Given the description of an element on the screen output the (x, y) to click on. 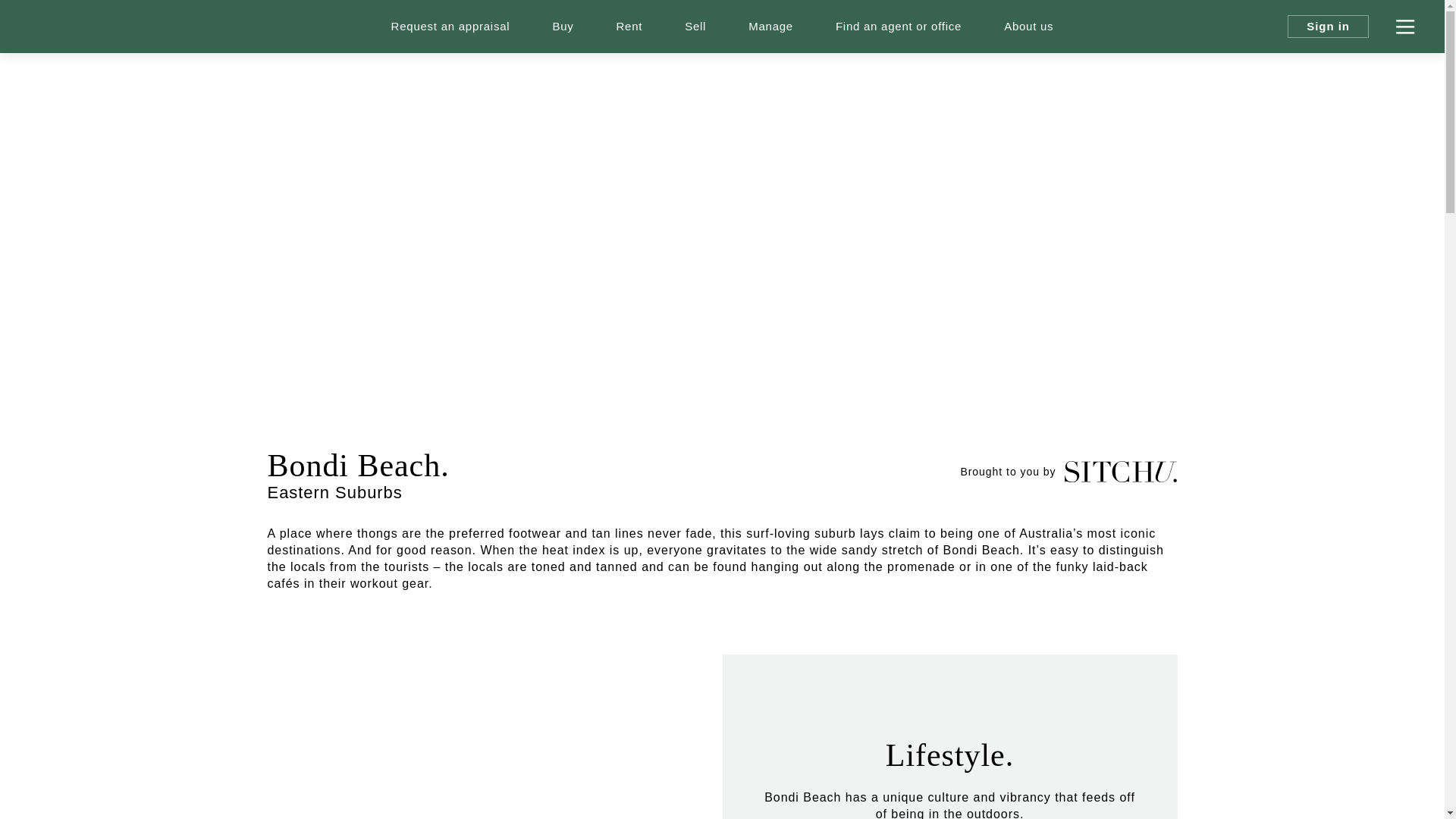
Manage (770, 26)
Sell (695, 26)
Find an agent or office (898, 26)
About us (1028, 26)
Buy (562, 26)
Rent (629, 26)
Request an appraisal (450, 26)
